Given the description of an element on the screen output the (x, y) to click on. 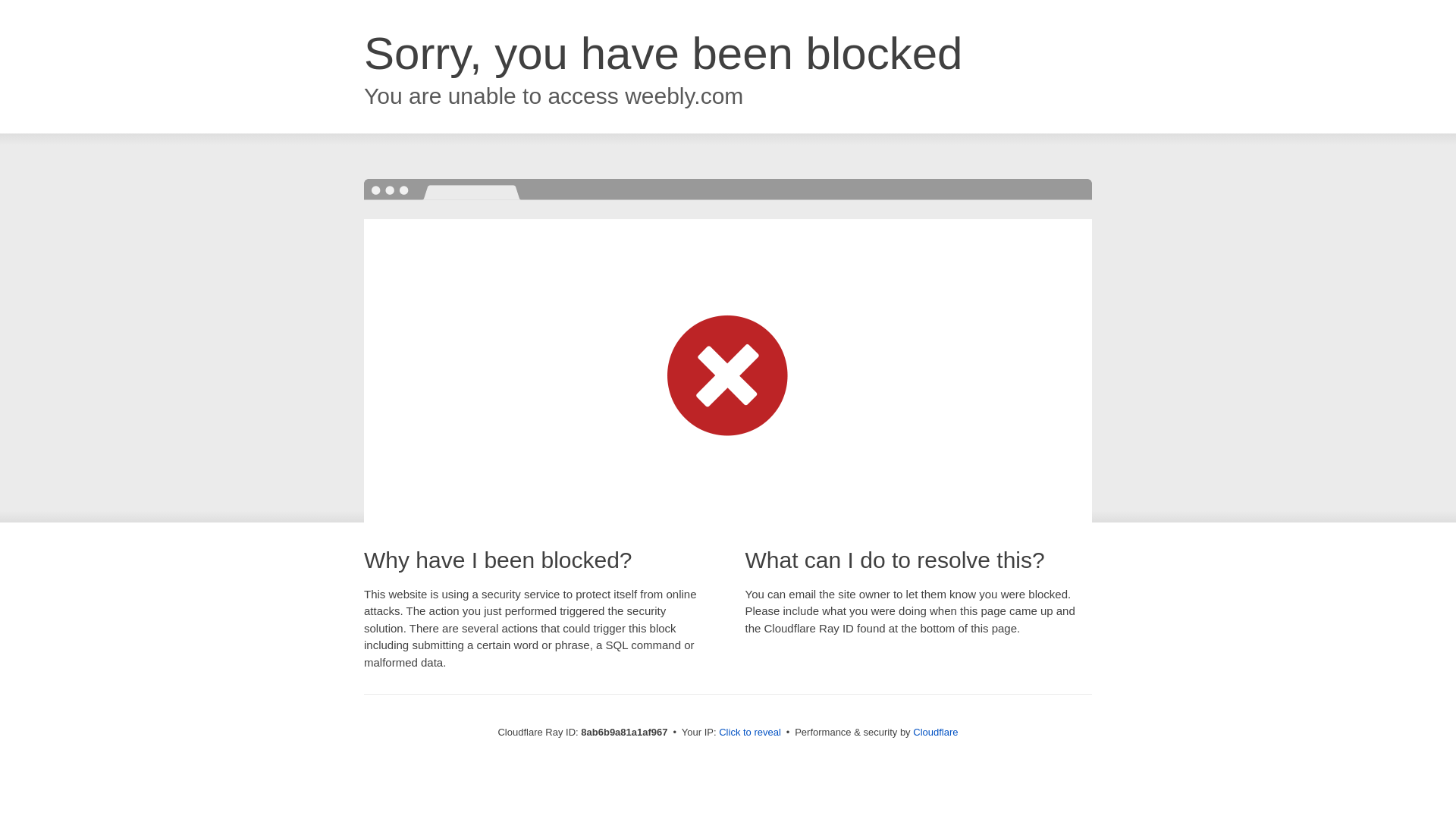
Cloudflare (935, 731)
Click to reveal (749, 732)
